Given the description of an element on the screen output the (x, y) to click on. 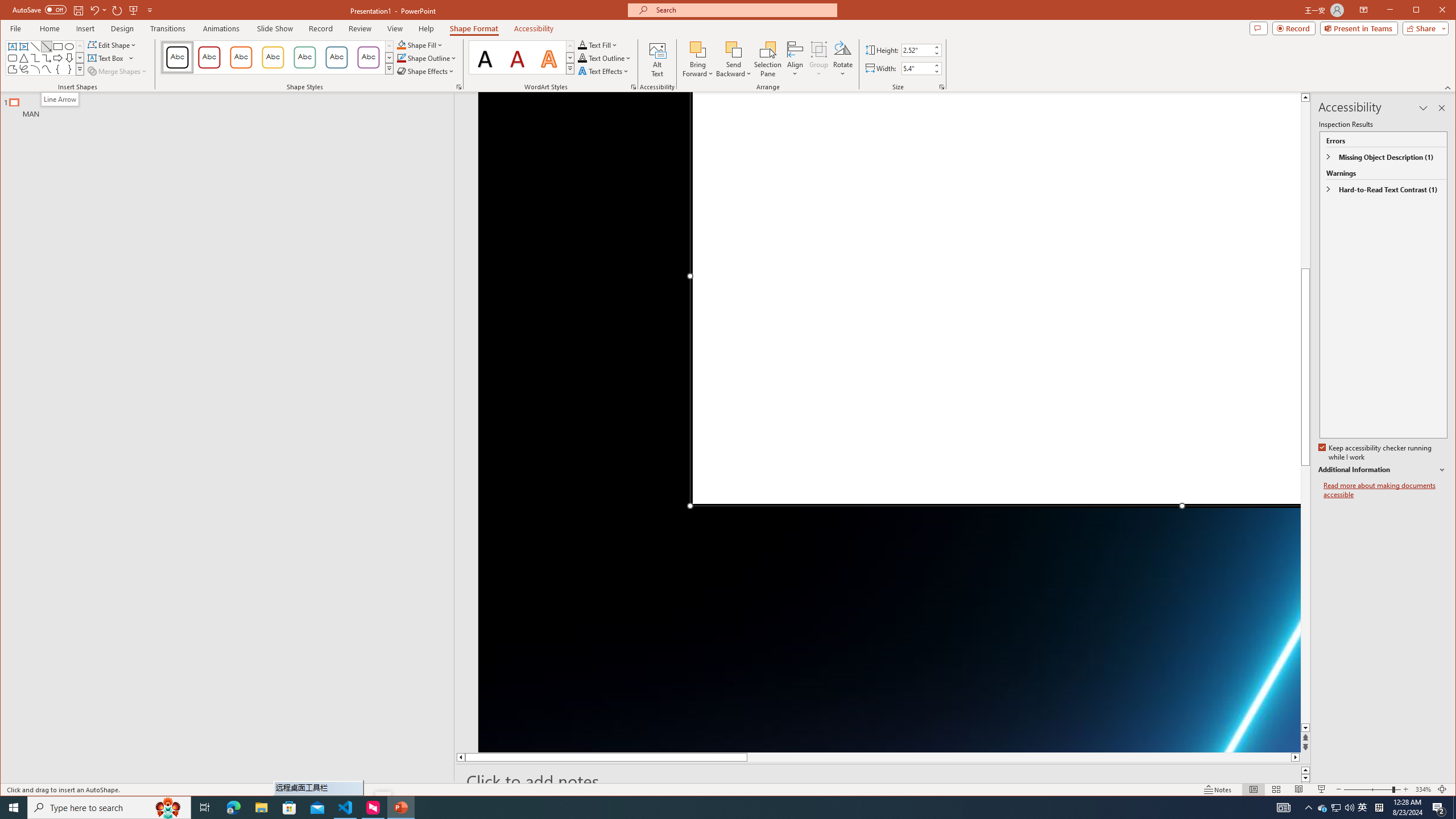
Send Backward (733, 59)
Colored Outline - Black, Dark 1 (177, 57)
Zoom 334% (1422, 789)
